Given the description of an element on the screen output the (x, y) to click on. 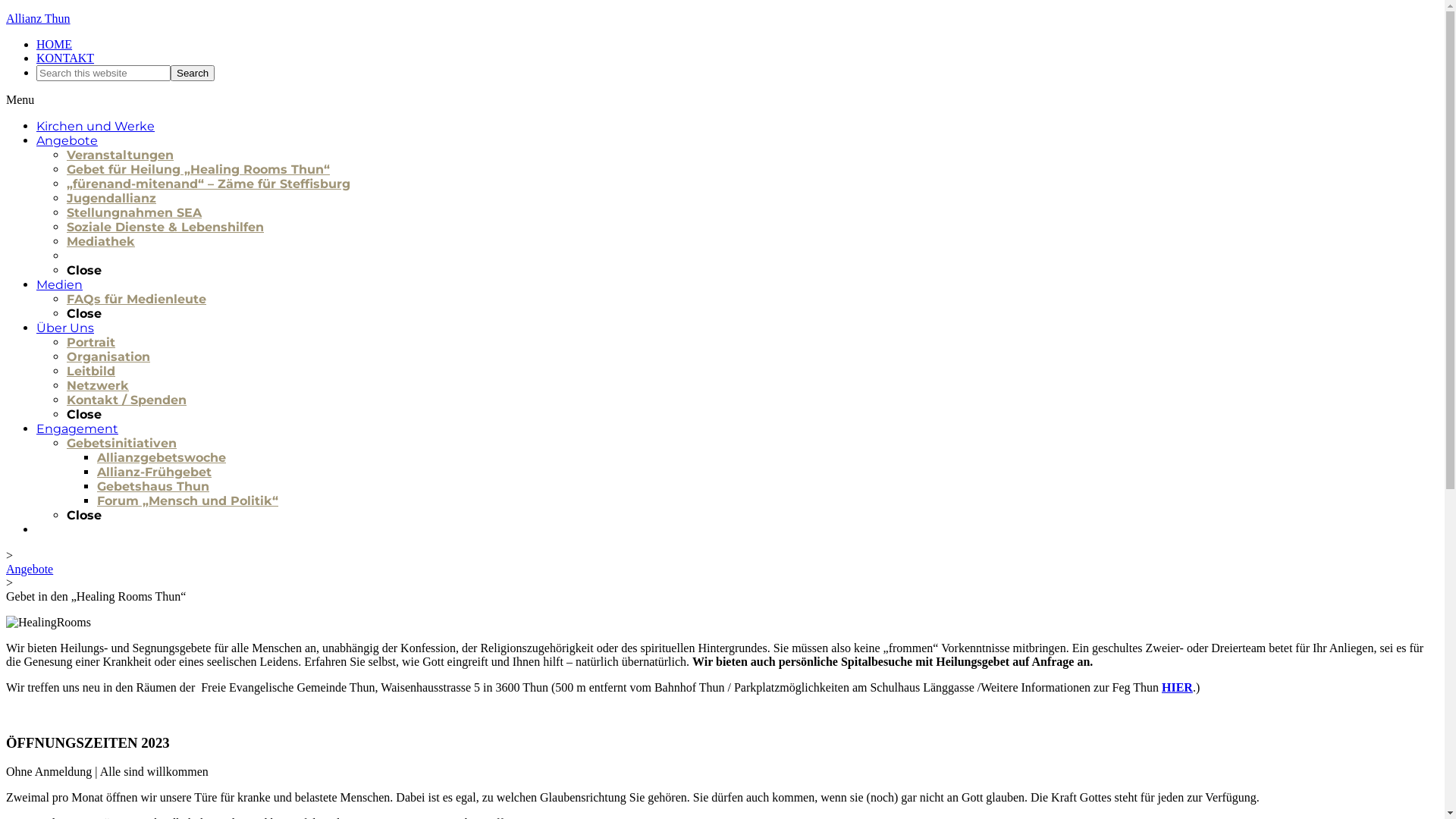
Mediathek Element type: text (100, 241)
Gebetshaus Thun Element type: text (153, 486)
Portrait Element type: text (90, 342)
Search Element type: text (192, 73)
HIER Element type: text (1176, 686)
Allianz Thun Element type: text (38, 18)
Leitbild Element type: text (90, 371)
Menu Element type: text (20, 99)
Kontakt / Spenden Element type: text (126, 399)
Veranstaltungen Element type: text (119, 154)
KONTAKT Element type: text (65, 57)
Soziale Dienste & Lebenshilfen Element type: text (164, 226)
Gebetsinitiativen Element type: text (121, 443)
Organisation Element type: text (108, 356)
Kirchen und Werke Element type: text (95, 126)
Angebote Element type: text (29, 568)
HOME Element type: text (54, 43)
Engagement Element type: text (77, 428)
Angebote Element type: text (66, 140)
Netzwerk Element type: text (97, 385)
Medien Element type: text (59, 284)
Allianzgebetswoche Element type: text (161, 457)
Stellungnahmen SEA Element type: text (133, 212)
Jugendallianz Element type: text (111, 198)
